Given the description of an element on the screen output the (x, y) to click on. 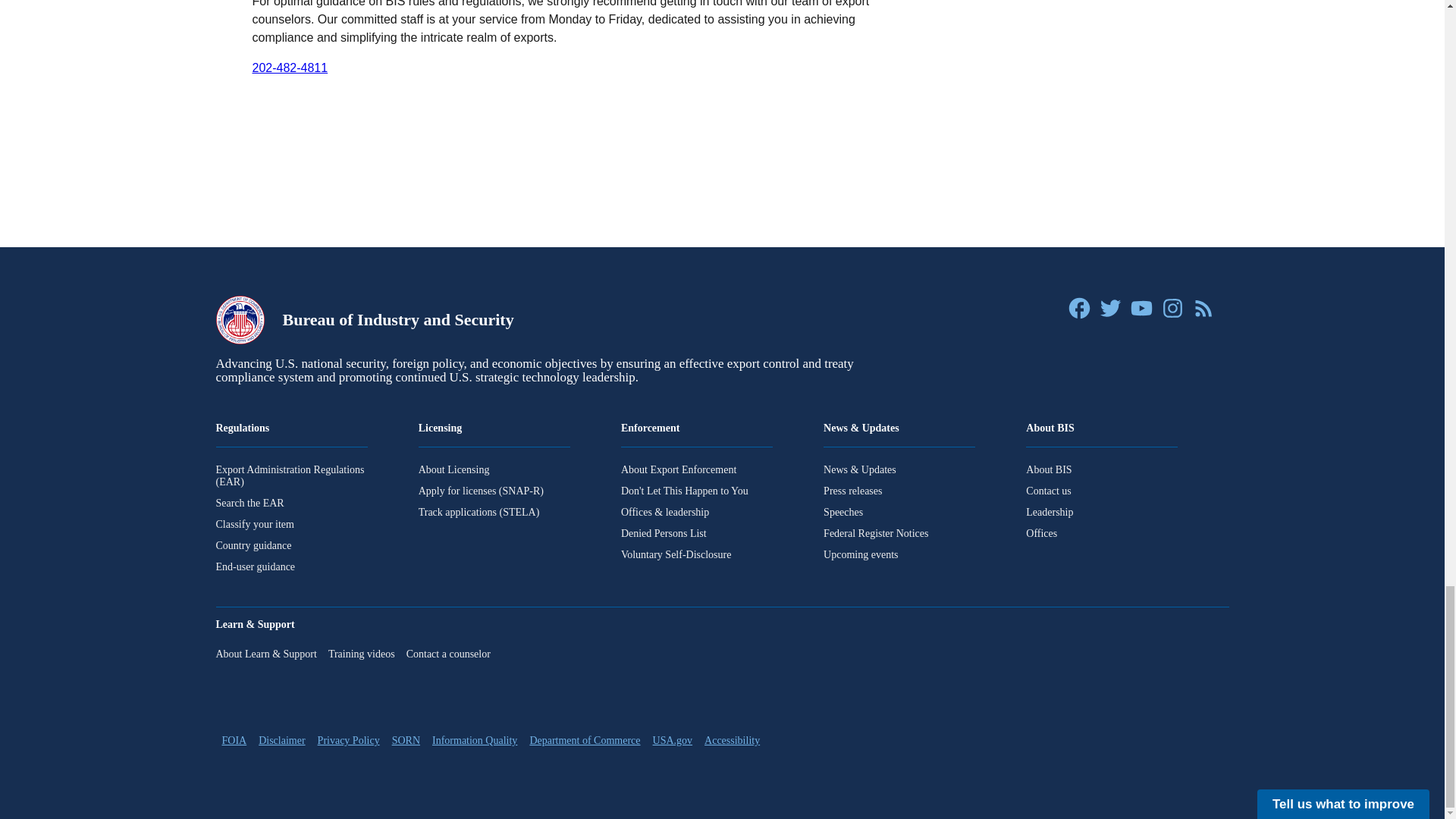
Classify your item (290, 524)
End-user guidance (290, 567)
Country guidance (290, 545)
Search the EAR (290, 503)
202-482-4811 (289, 67)
Bureau of Industry and Security (364, 319)
Training videos (361, 654)
